Given the description of an element on the screen output the (x, y) to click on. 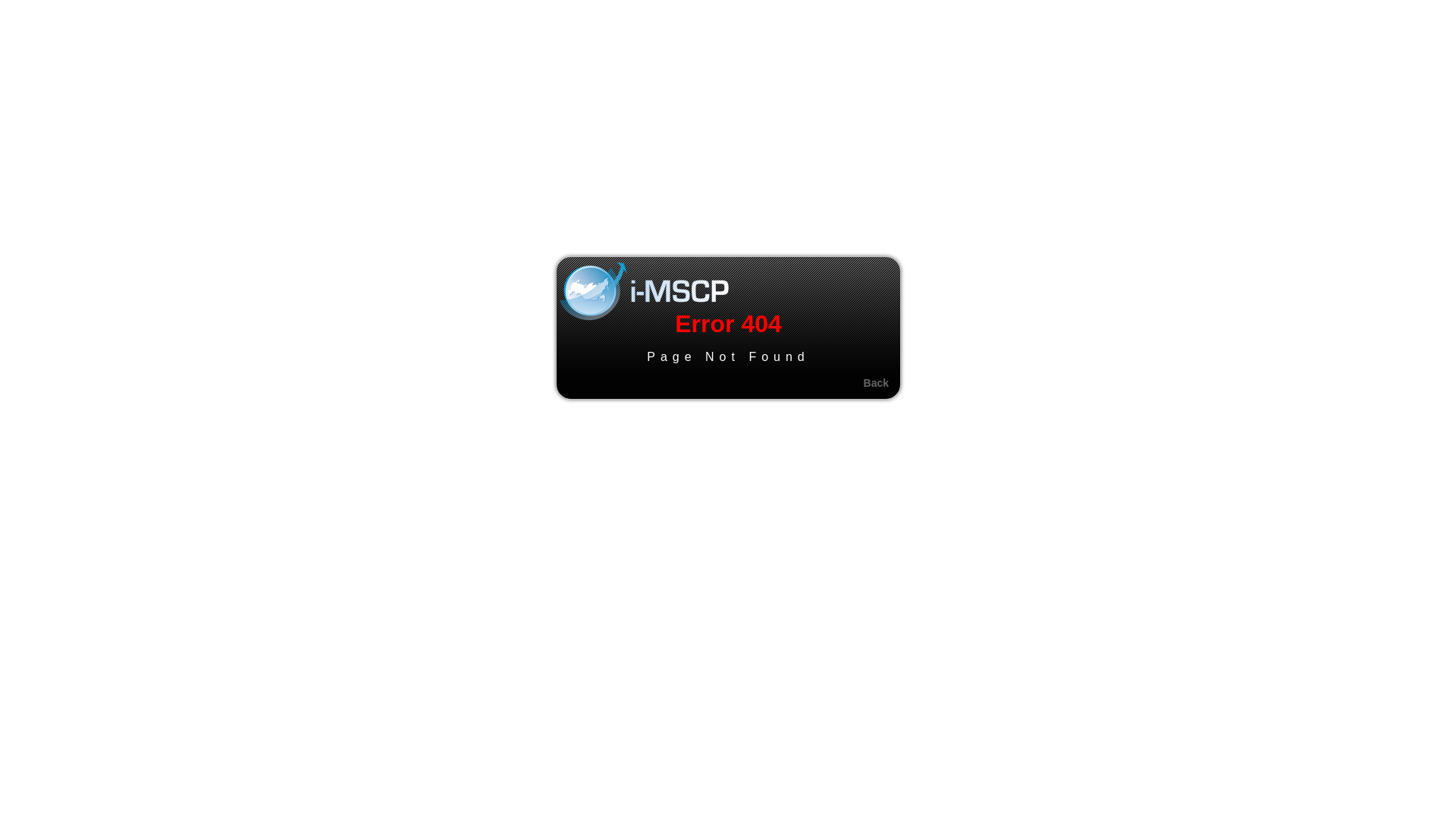
Back Element type: text (875, 382)
